Given the description of an element on the screen output the (x, y) to click on. 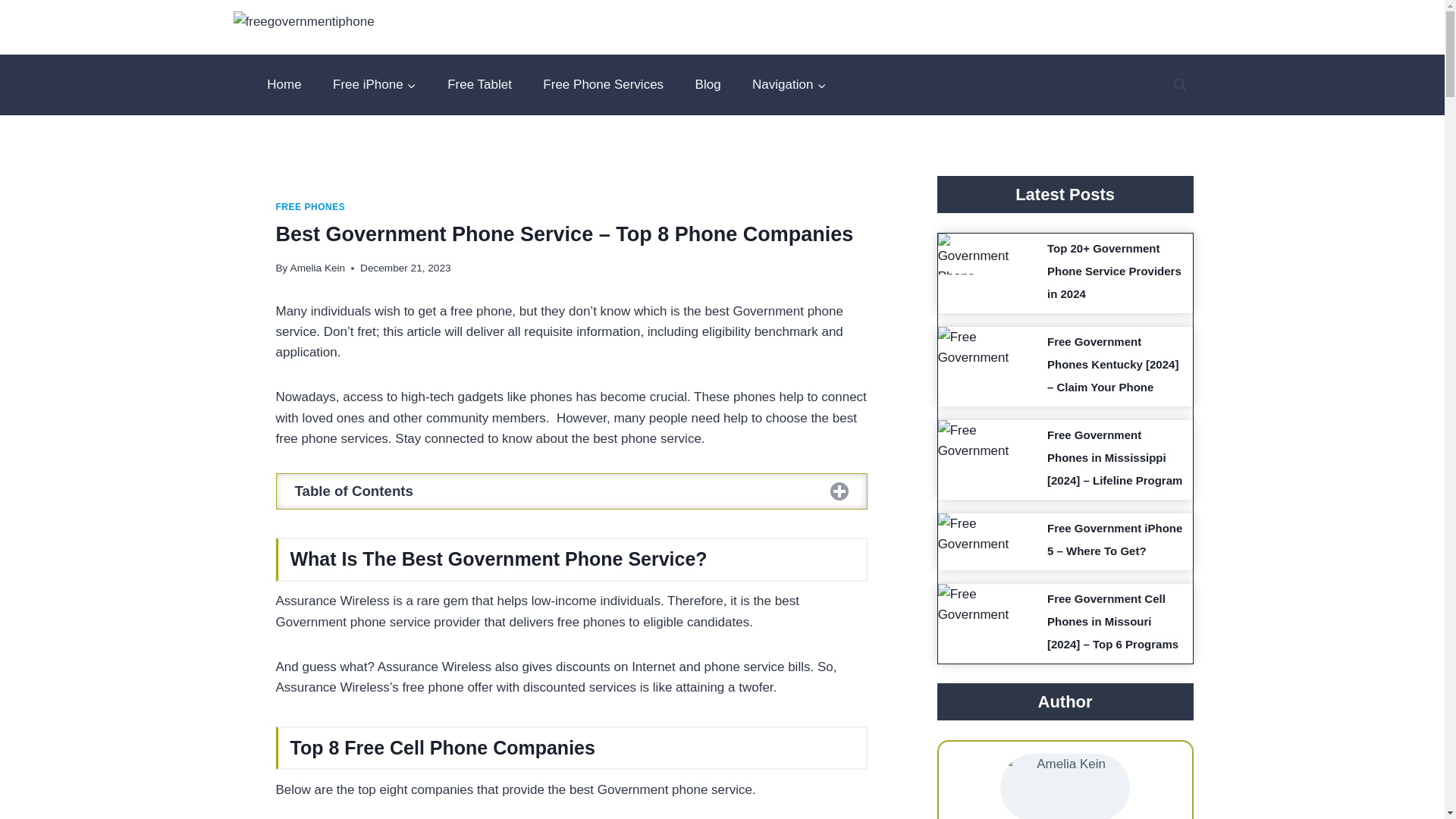
Amelia Kein (317, 267)
Free iPhone (373, 84)
Free Tablet (478, 84)
FREE PHONES (311, 206)
Blog (707, 84)
Home (284, 84)
Table of Contents (571, 491)
Free Government iPhone 5 - Where To Get? 13 (976, 533)
Free Phone Services (603, 84)
Navigation (788, 84)
